Given the description of an element on the screen output the (x, y) to click on. 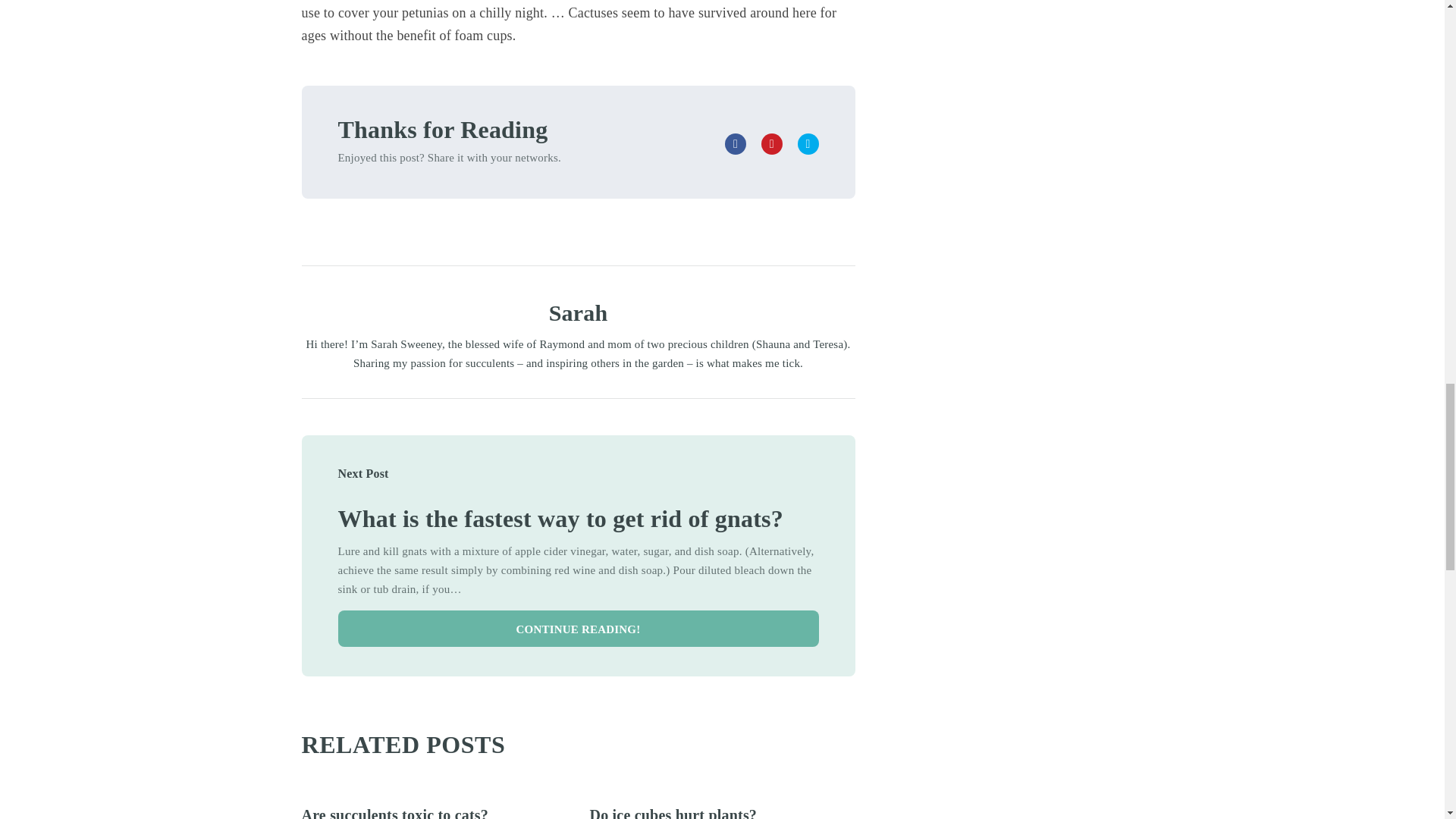
Do ice cubes hurt plants? (673, 812)
Do ice cubes hurt plants? (673, 812)
Are succulents toxic to cats? (395, 812)
Sarah (578, 312)
CONTINUE READING! (577, 628)
What is the fastest way to get rid of gnats? (560, 518)
Can cactus survive a frost? (560, 518)
Are succulents toxic to cats? (395, 812)
